Given the description of an element on the screen output the (x, y) to click on. 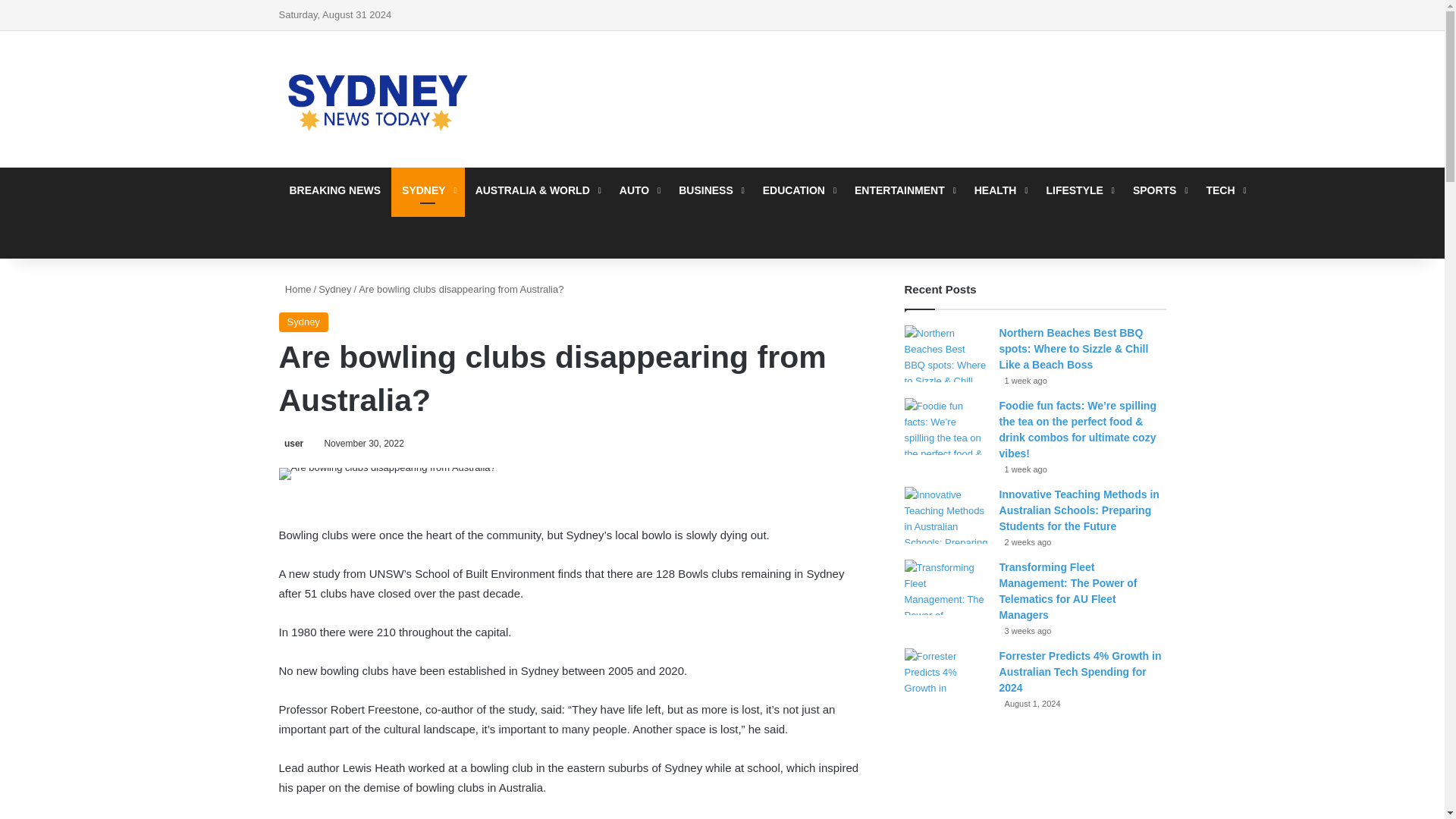
Are bowling clubs disappearing from Australia? (387, 473)
Sydneynewstoday.com (377, 99)
Sydney (304, 322)
SPORTS (1158, 189)
EDUCATION (798, 189)
BREAKING NEWS (335, 189)
user (291, 443)
AUTO (638, 189)
Sydney (334, 288)
HEALTH (999, 189)
